Given the description of an element on the screen output the (x, y) to click on. 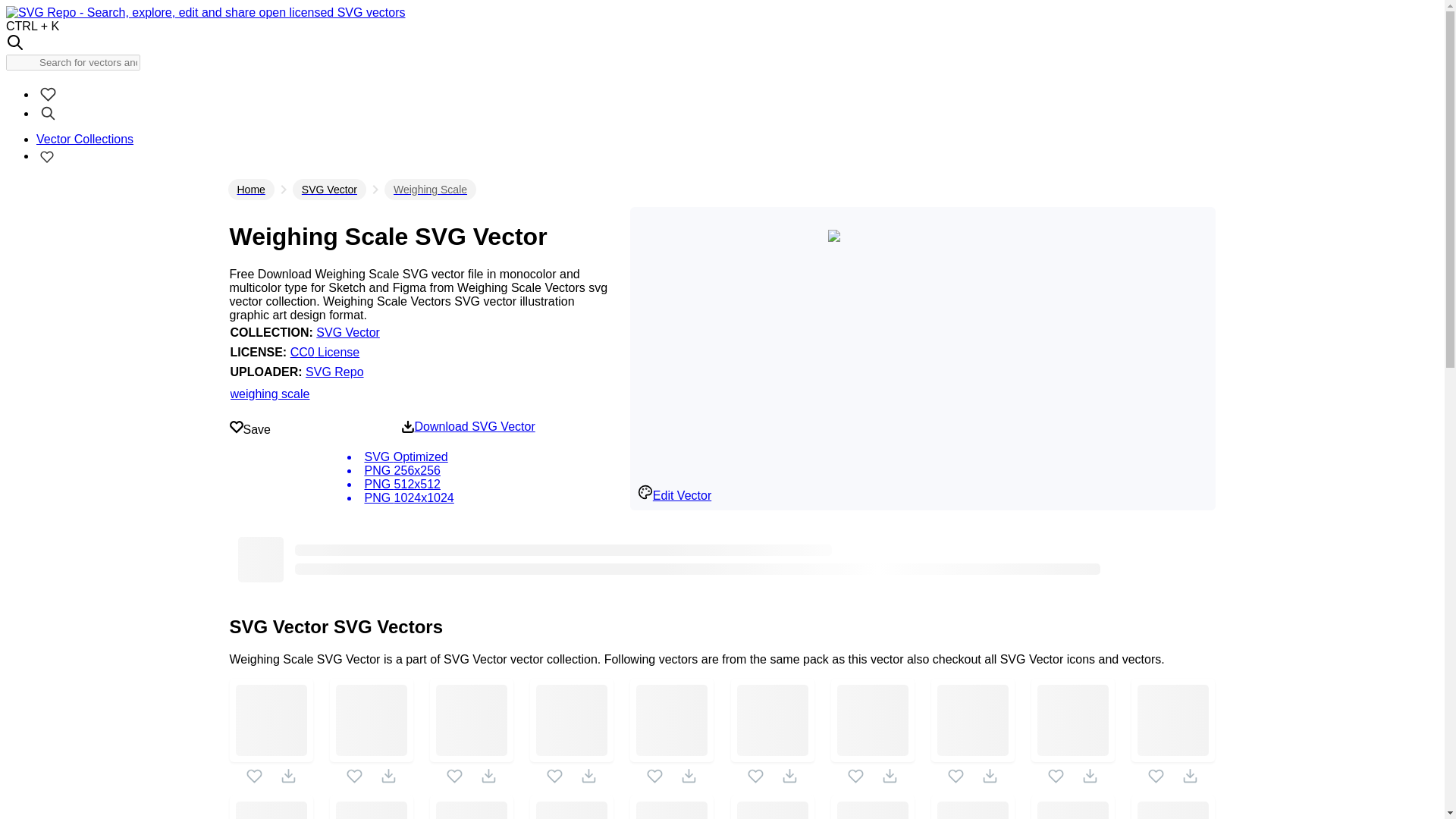
Edit Vector (674, 493)
Like undefined SVG File (1155, 775)
Like undefined SVG File (654, 775)
PNG 512x512 (467, 484)
Weighing Scale (430, 188)
SVG Optimized (467, 457)
weighing scale (270, 393)
SVG Repo (333, 371)
Download SVG Vector (467, 427)
Like undefined SVG File (454, 775)
Like undefined SVG File (755, 775)
CC0 License (324, 351)
Like undefined SVG File (254, 775)
SVG Vector (329, 188)
Saved Vectors (47, 155)
